Given the description of an element on the screen output the (x, y) to click on. 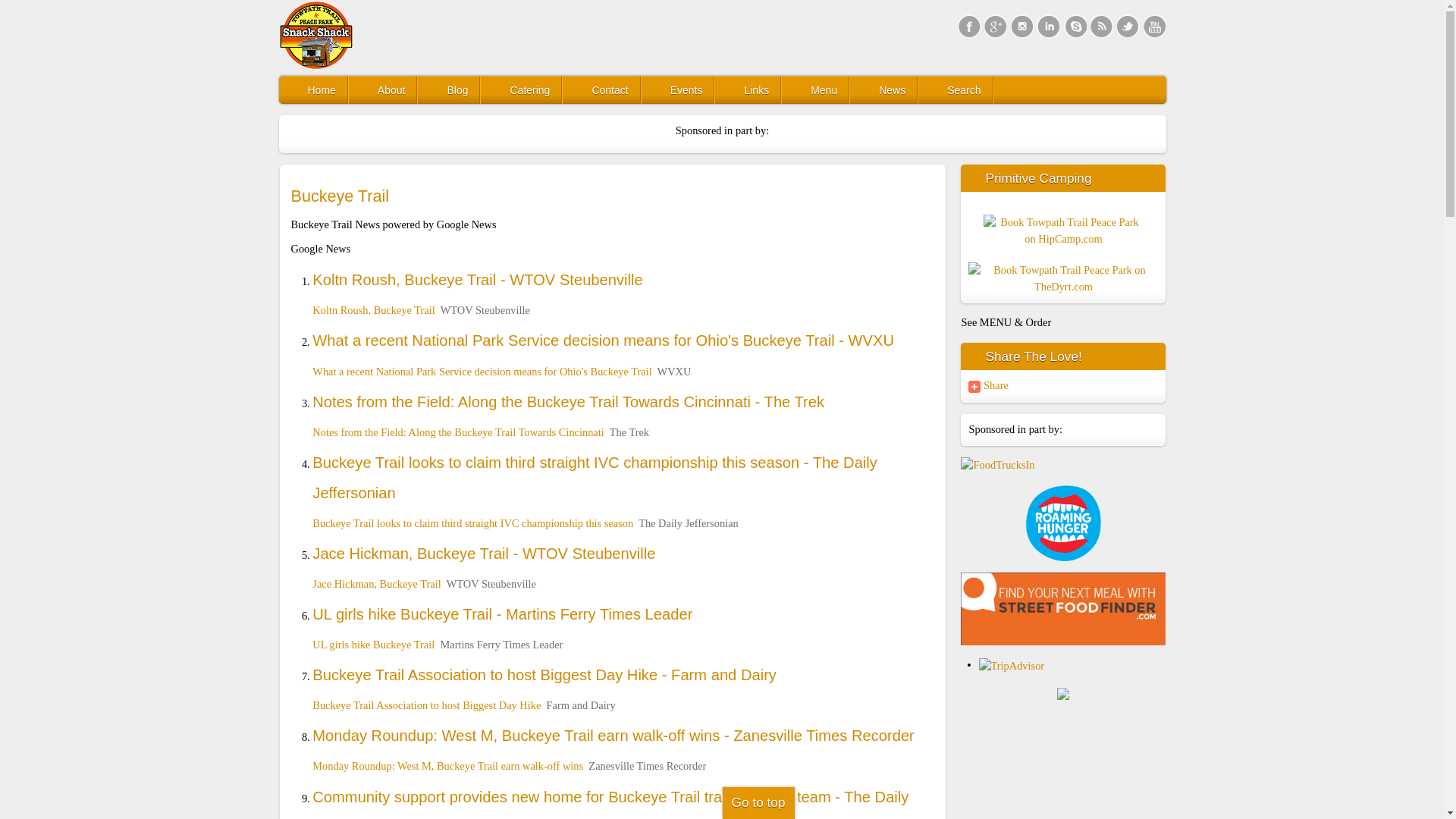
Twitter (1127, 25)
LinkedIn (1047, 25)
Instagram (1021, 25)
RSS (1101, 25)
Skype (1074, 25)
Instagram (1021, 25)
Skype (1074, 25)
Facebook (967, 25)
RSS (1101, 25)
LinkedIn (1047, 25)
Facebook (967, 25)
Twitter (1127, 25)
YouTube (1154, 25)
YouTube (1154, 25)
